Given the description of an element on the screen output the (x, y) to click on. 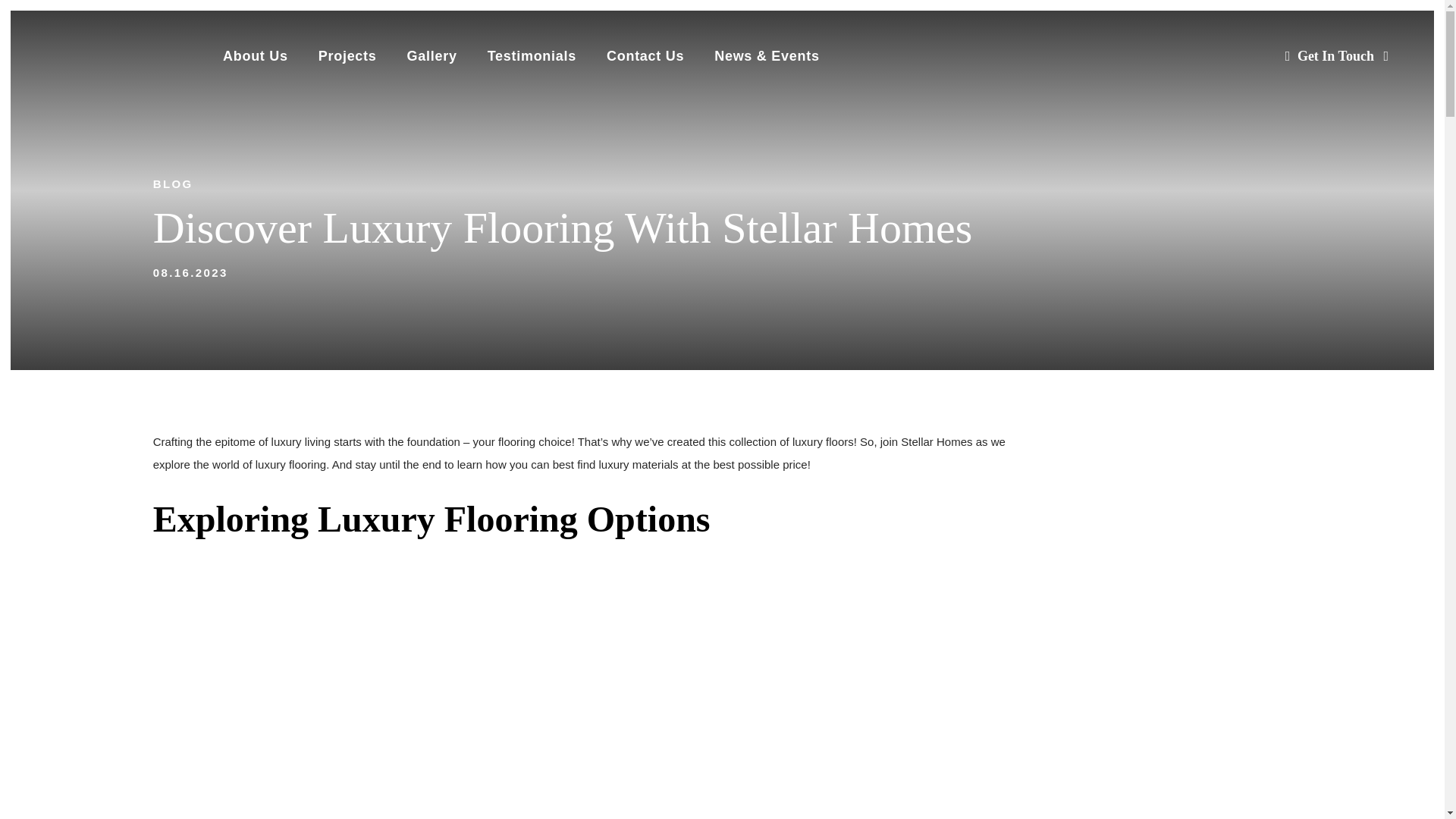
Gallery (432, 55)
Contact Us (645, 55)
Testimonials (531, 55)
About Us (255, 55)
Projects (347, 55)
Get In Touch (1337, 55)
